Given the description of an element on the screen output the (x, y) to click on. 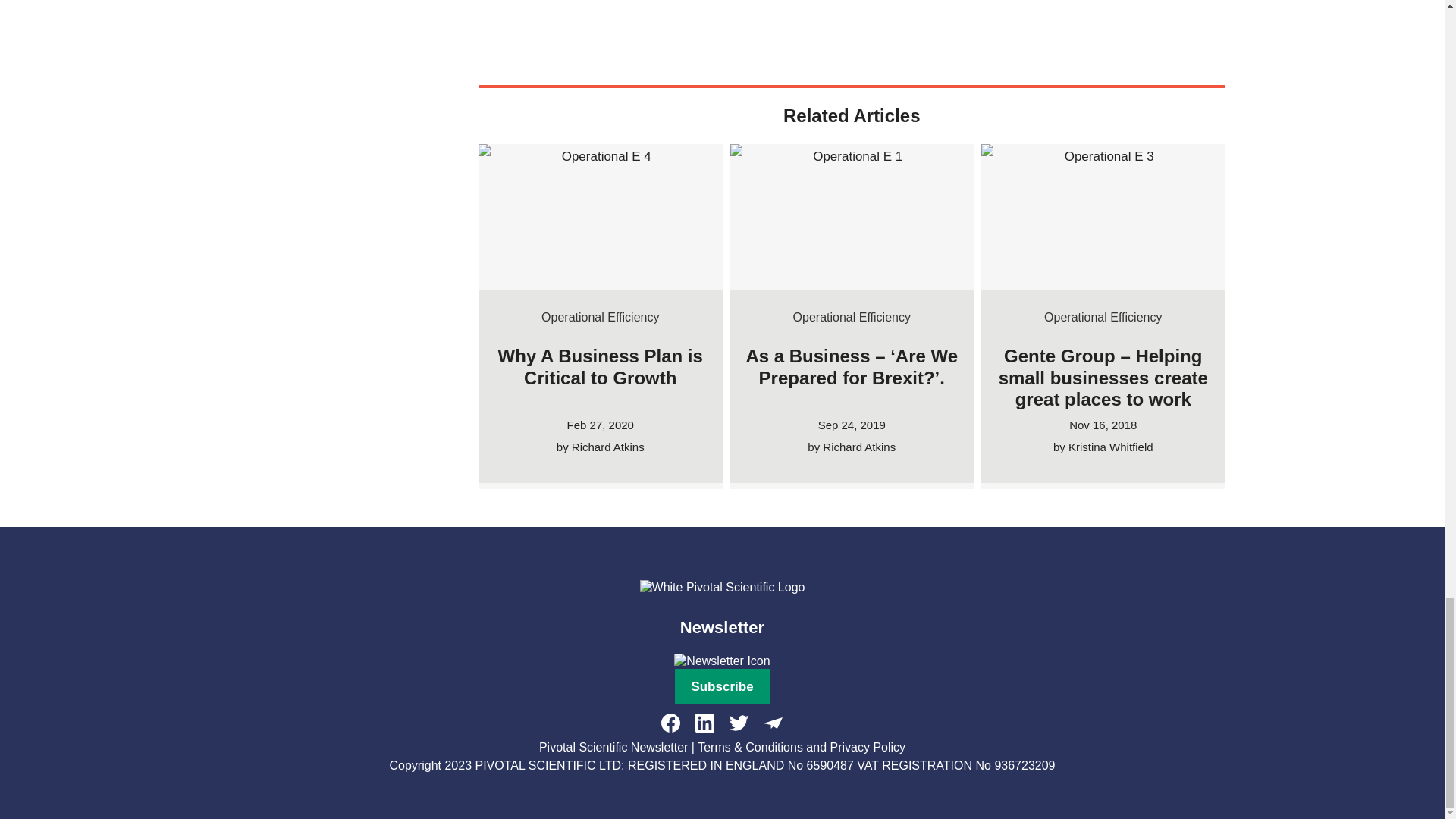
Why A Business Plan is Critical to Growth (600, 220)
LinkedIn (704, 722)
Facebook (670, 722)
Twitter (738, 722)
Minutemailer (772, 722)
Why A Business Plan is Critical to Growth (600, 366)
